Given the description of an element on the screen output the (x, y) to click on. 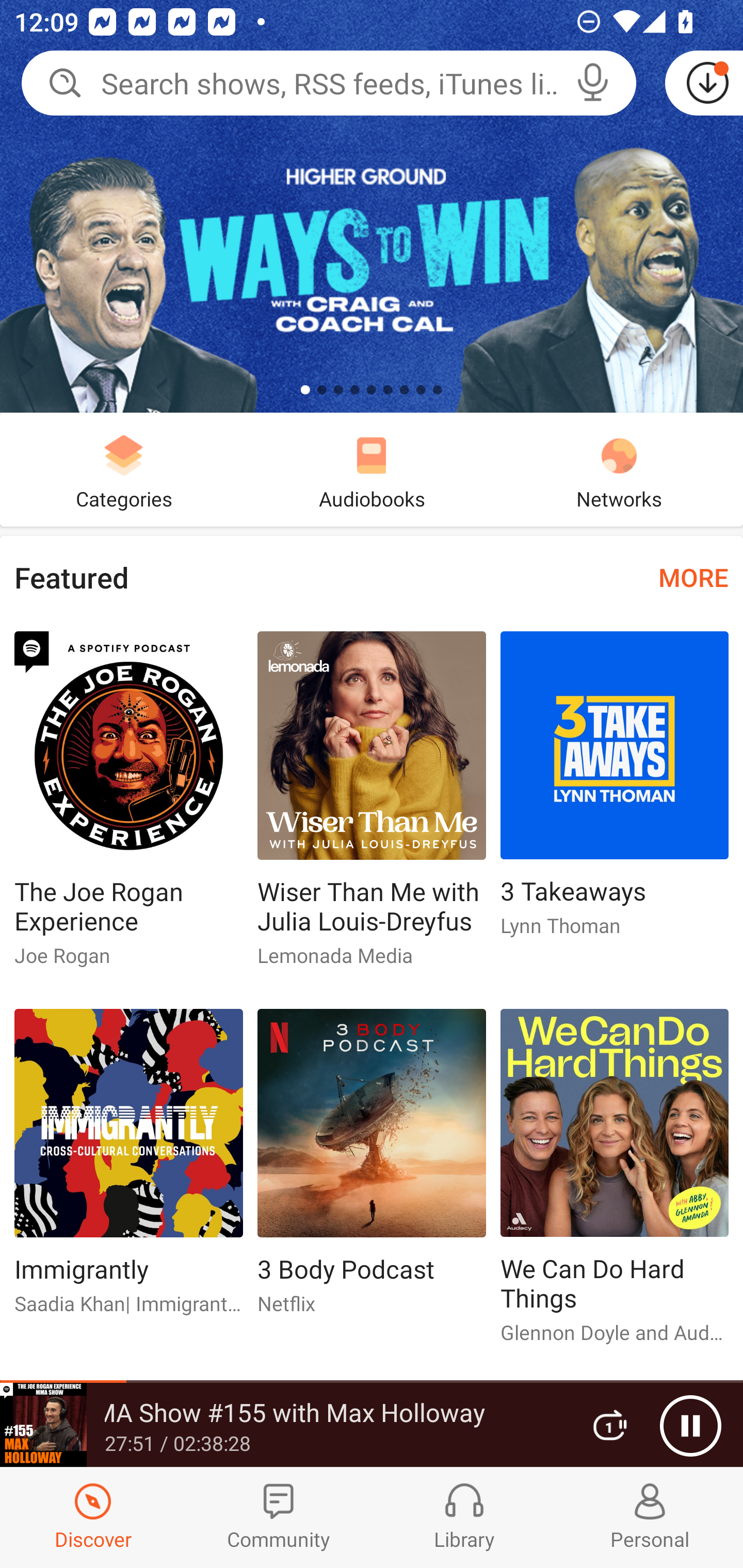
Ways To Win (371, 206)
Categories (123, 469)
Audiobooks (371, 469)
Networks (619, 469)
MORE (693, 576)
3 Takeaways 3 Takeaways Lynn Thoman (614, 792)
3 Body Podcast 3 Body Podcast Netflix (371, 1169)
Pause (690, 1425)
Discover (92, 1517)
Community (278, 1517)
Library (464, 1517)
Profiles and Settings Personal (650, 1517)
